Given the description of an element on the screen output the (x, y) to click on. 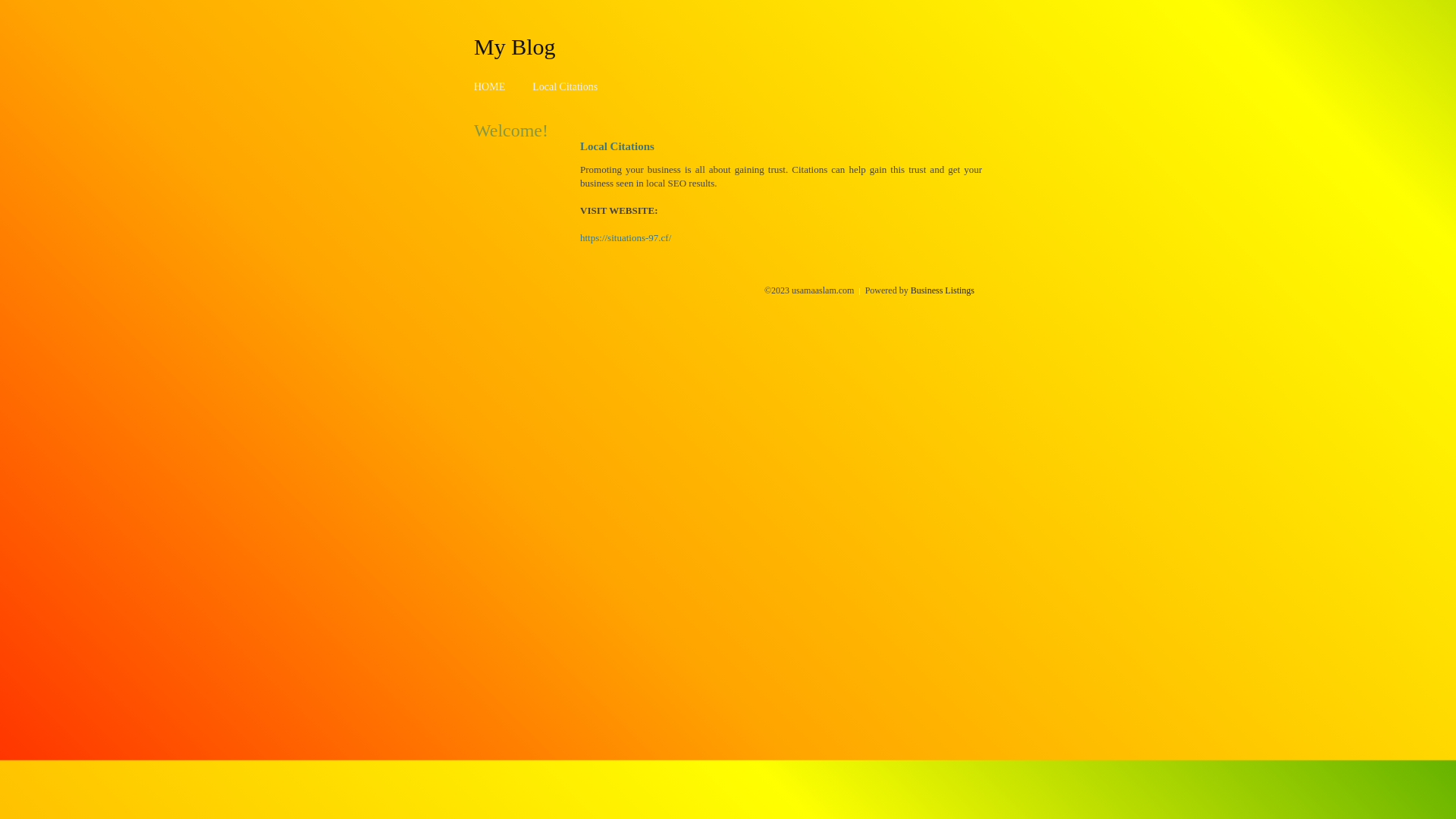
HOME Element type: text (489, 86)
Local Citations Element type: text (564, 86)
https://situations-97.cf/ Element type: text (625, 237)
My Blog Element type: text (514, 46)
Business Listings Element type: text (942, 290)
